Given the description of an element on the screen output the (x, y) to click on. 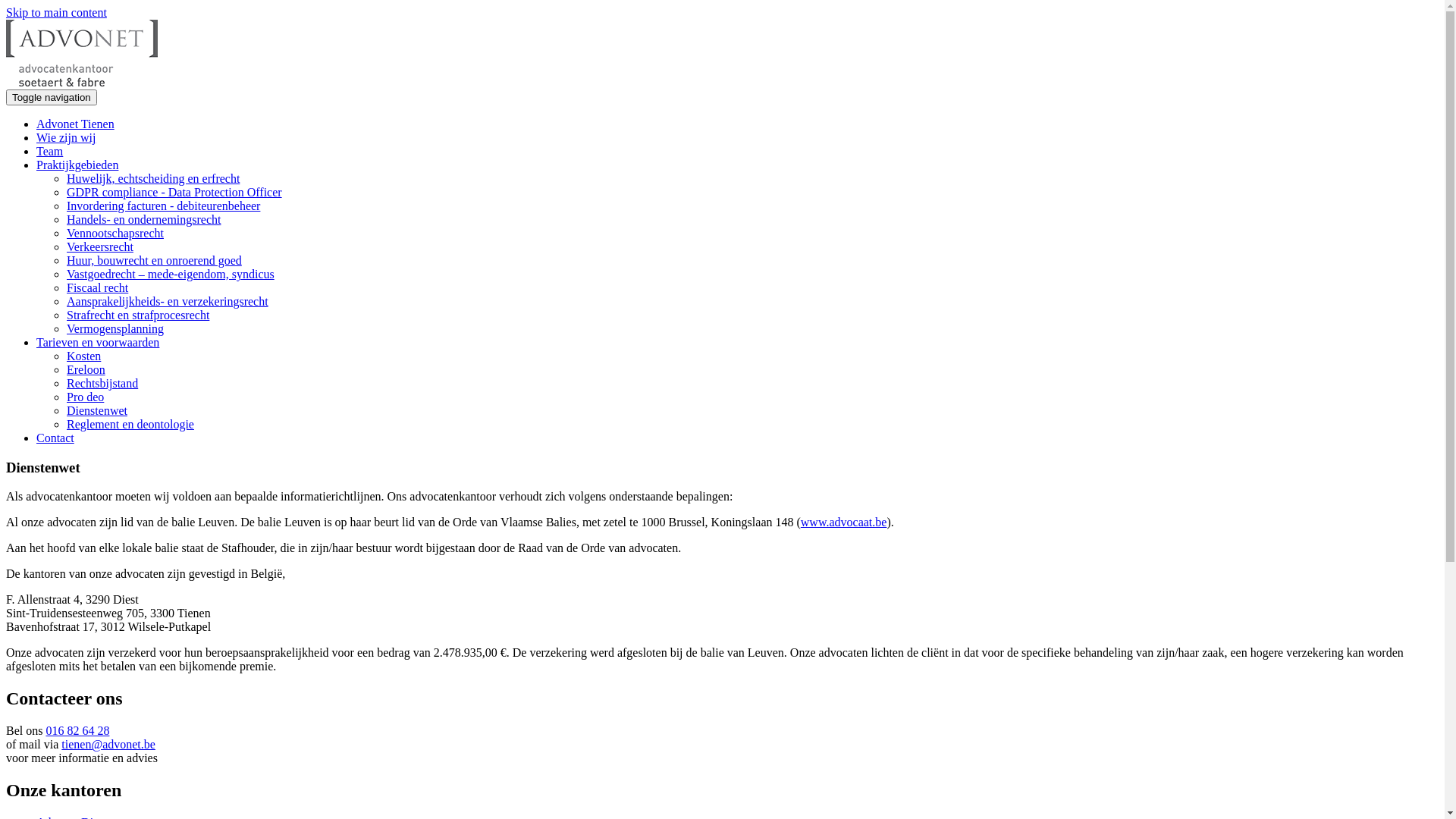
Aansprakelijkheids- en verzekeringsrecht Element type: text (167, 300)
016 82 64 28 Element type: text (77, 730)
Fiscaal recht Element type: text (97, 287)
Invordering facturen - debiteurenbeheer Element type: text (163, 205)
GDPR compliance - Data Protection Officer Element type: text (174, 191)
Ereloon Element type: text (85, 369)
Strafrecht en strafprocesrecht Element type: text (137, 314)
Rechtsbijstand Element type: text (102, 382)
Huur, bouwrecht en onroerend goed Element type: text (153, 260)
Toggle navigation Element type: text (51, 97)
Dienstenwet Element type: text (96, 410)
Advonet Tienen Element type: text (75, 123)
Vermogensplanning Element type: text (114, 328)
Handels- en ondernemingsrecht Element type: text (143, 219)
Vennootschapsrecht Element type: text (114, 232)
Team Element type: text (49, 150)
Home Element type: hover (81, 81)
Reglement en deontologie Element type: text (130, 423)
Verkeersrecht Element type: text (99, 246)
Praktijkgebieden Element type: text (77, 164)
tienen@advonet.be Element type: text (108, 743)
Skip to main content Element type: text (56, 12)
Kosten Element type: text (83, 355)
Wie zijn wij Element type: text (65, 137)
www.advocaat.be Element type: text (843, 521)
Tarieven en voorwaarden Element type: text (97, 341)
Pro deo Element type: text (84, 396)
Contact Element type: text (55, 437)
Huwelijk, echtscheiding en erfrecht Element type: text (152, 178)
